Given the description of an element on the screen output the (x, y) to click on. 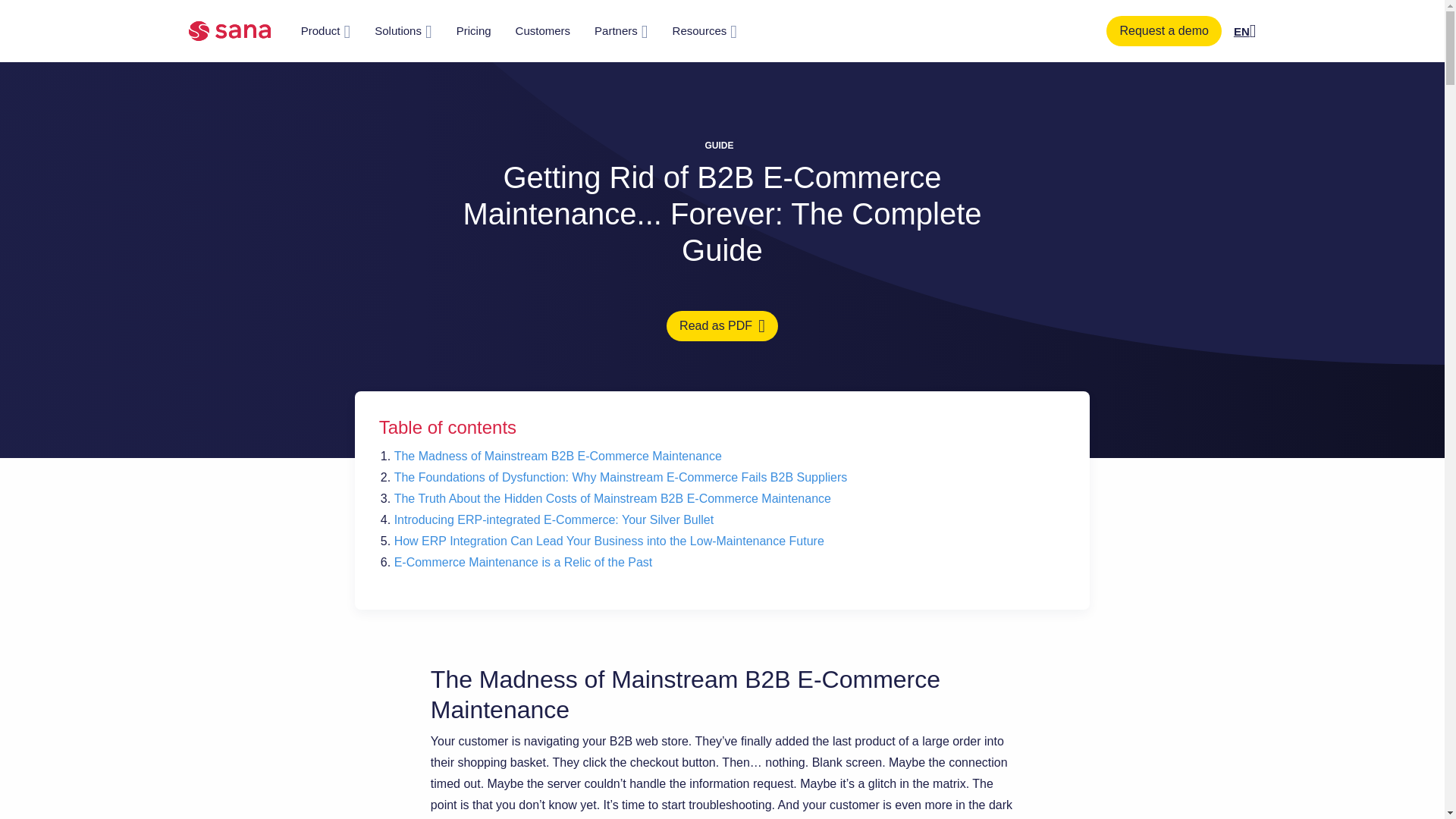
Read as PDF (721, 326)
Request a demo (1163, 30)
